Given the description of an element on the screen output the (x, y) to click on. 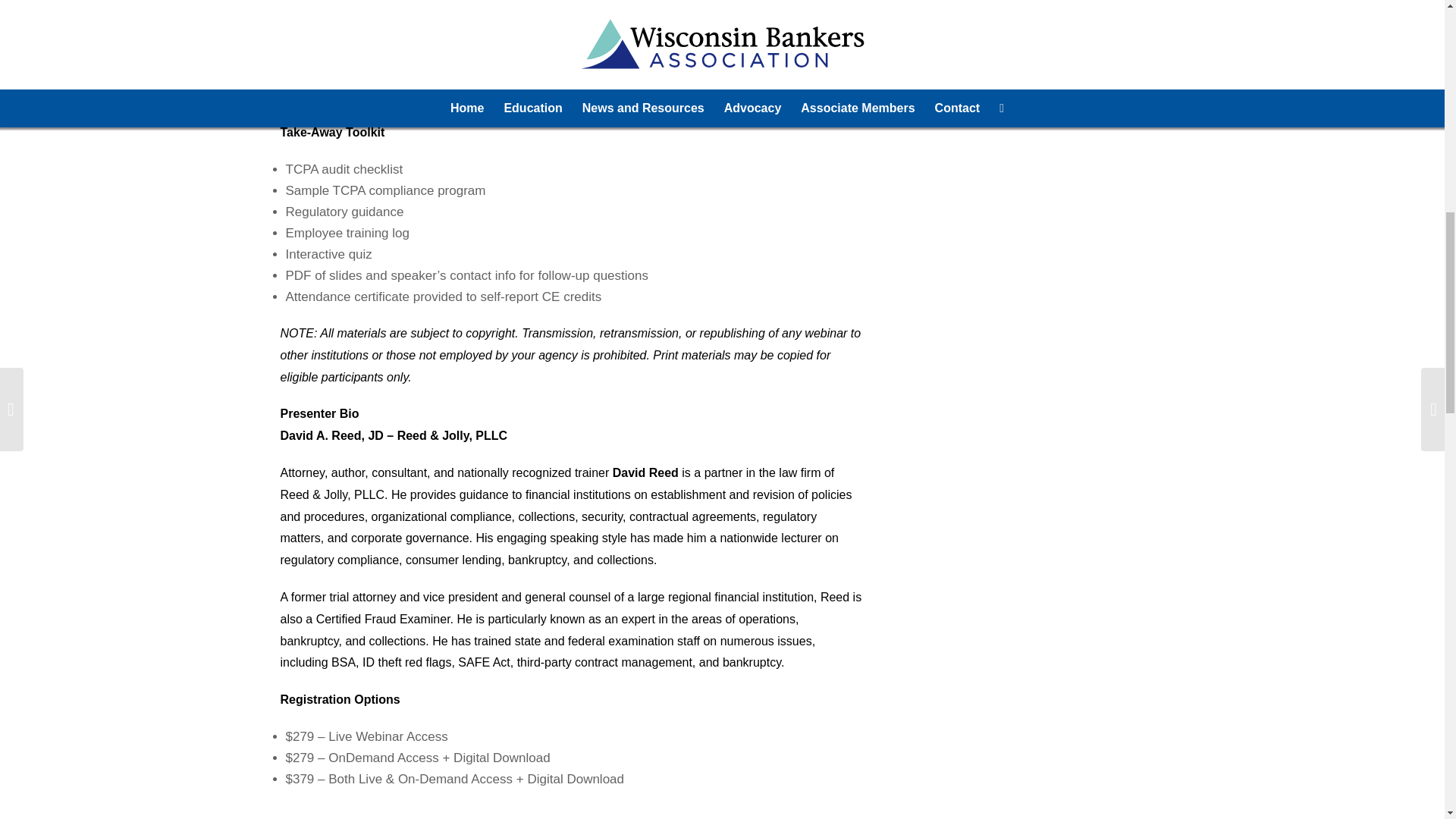
Tweet (1005, 27)
Share on Facebook (971, 27)
Linkedin (1039, 27)
Email (1073, 27)
